Given the description of an element on the screen output the (x, y) to click on. 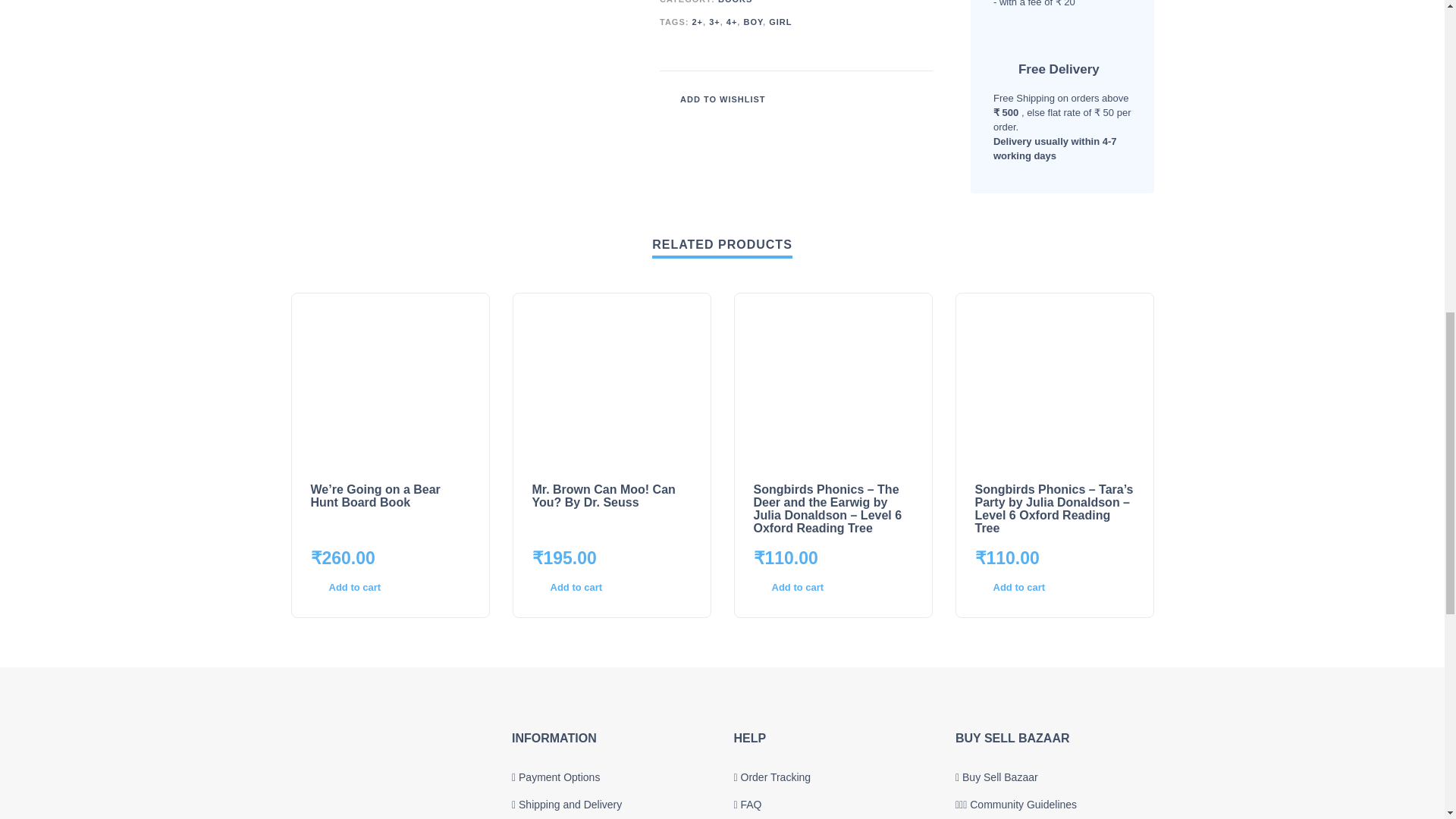
Share on Facebook (852, 98)
Share on Whatsapp (921, 98)
Share on Twitter (875, 98)
Pin on Pinterest (898, 98)
